Given the description of an element on the screen output the (x, y) to click on. 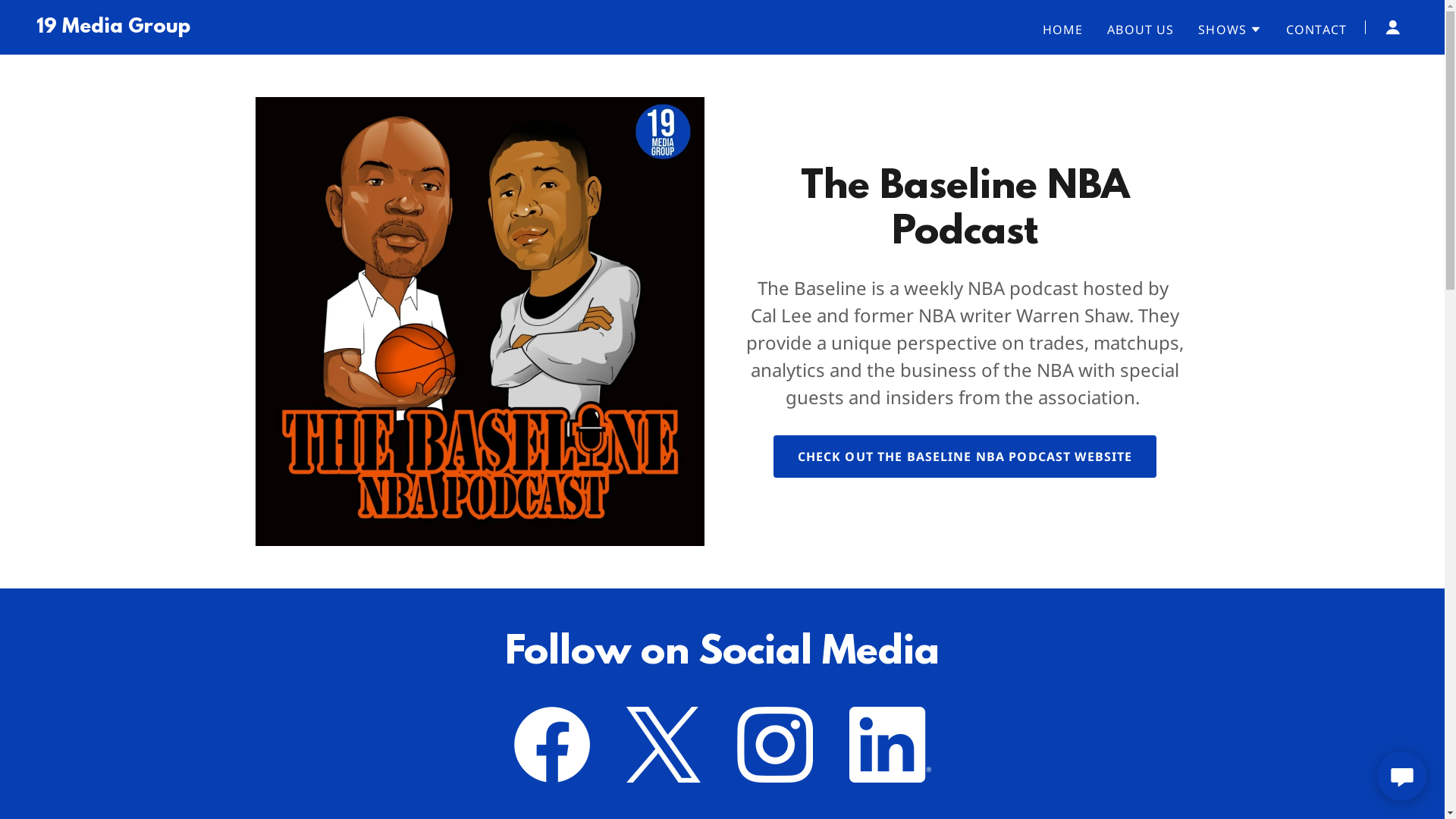
CONTACT Element type: text (1316, 28)
HOME Element type: text (1063, 28)
ABOUT US Element type: text (1140, 28)
SHOWS Element type: text (1229, 28)
CHECK OUT THE BASELINE NBA PODCAST WEBSITE Element type: text (965, 456)
19 Media Group Element type: text (113, 27)
